Given the description of an element on the screen output the (x, y) to click on. 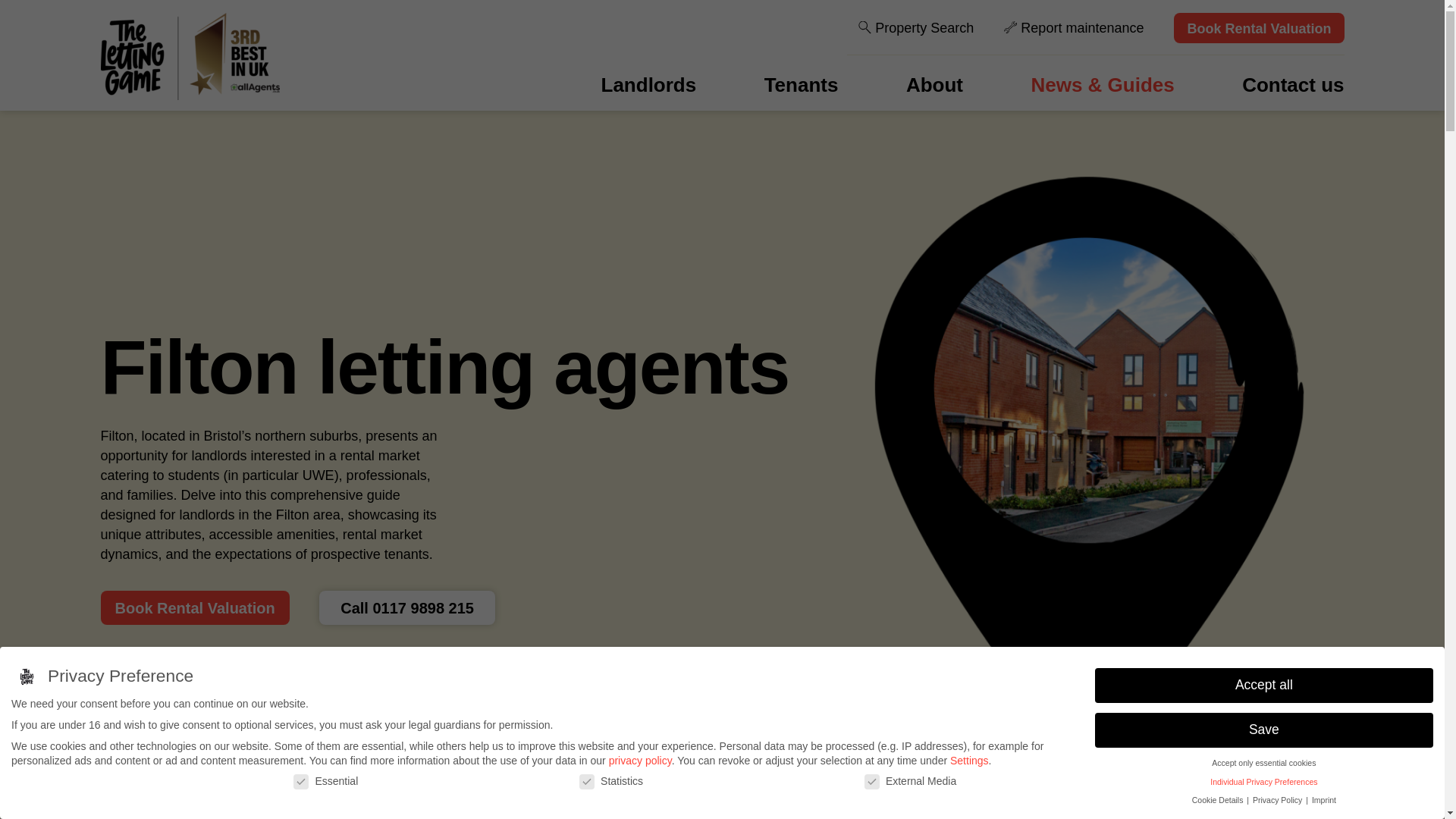
Book Rental Valuation (1258, 28)
Landlords (649, 85)
Book Rental Valuation (194, 607)
Call 0117 9898 215 (406, 607)
Property Search (916, 28)
Report maintenance (1073, 28)
Book Rental Valuation (1258, 28)
About (933, 85)
Tenants (801, 85)
The Letting Game (189, 56)
Property Search (916, 28)
Contact us (1292, 85)
Call 0117 9898 215 (406, 607)
Book Rental Valuation (194, 607)
Report maintenance (1073, 28)
